Given the description of an element on the screen output the (x, y) to click on. 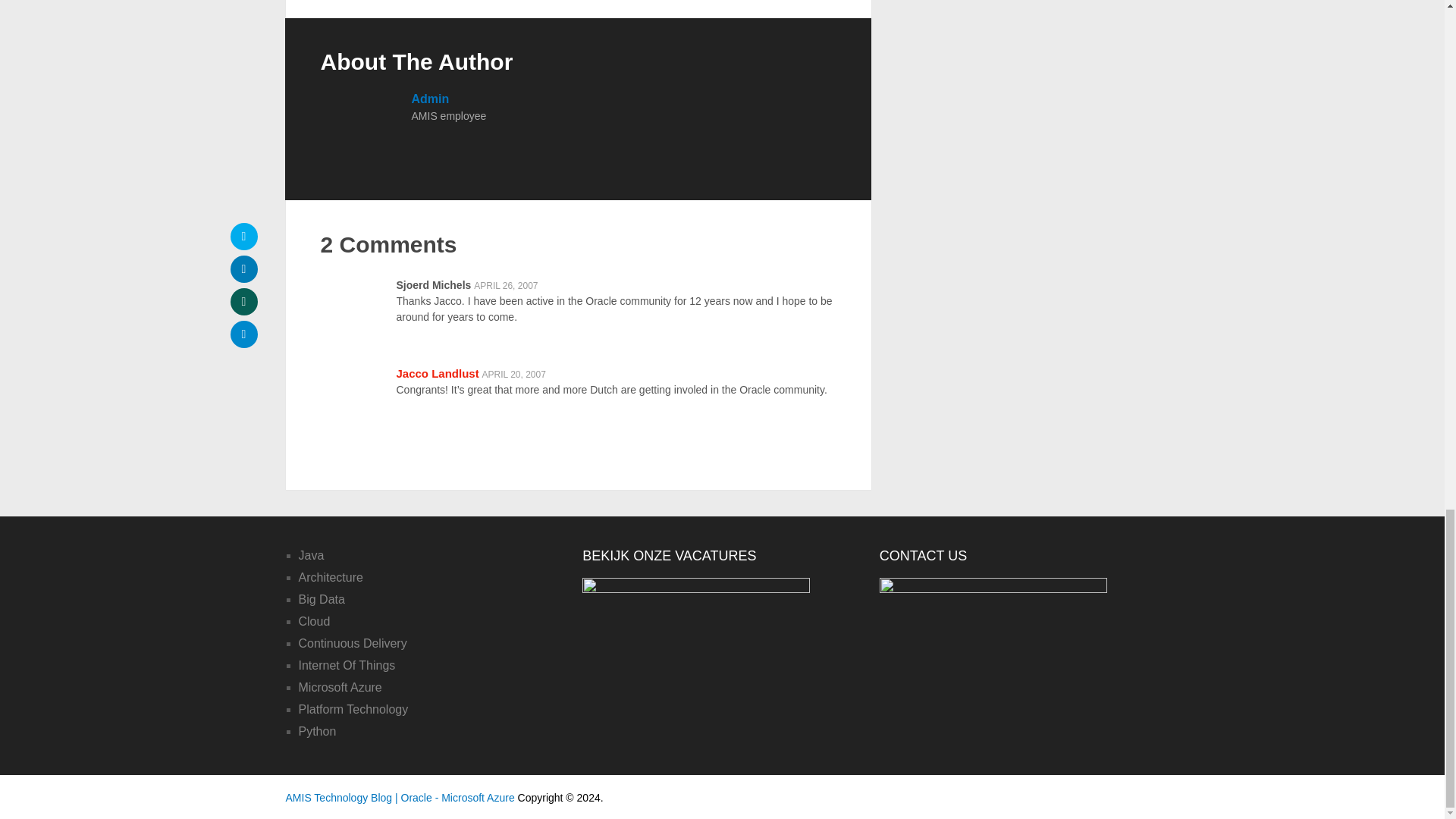
Admin (429, 98)
Jacco Landlust (437, 373)
